Given the description of an element on the screen output the (x, y) to click on. 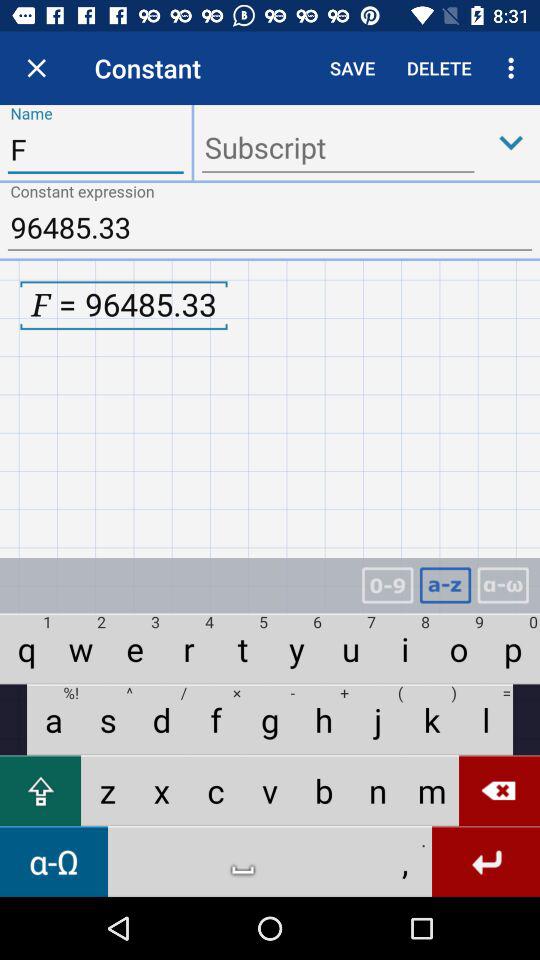
subscript notation field (337, 149)
